Given the description of an element on the screen output the (x, y) to click on. 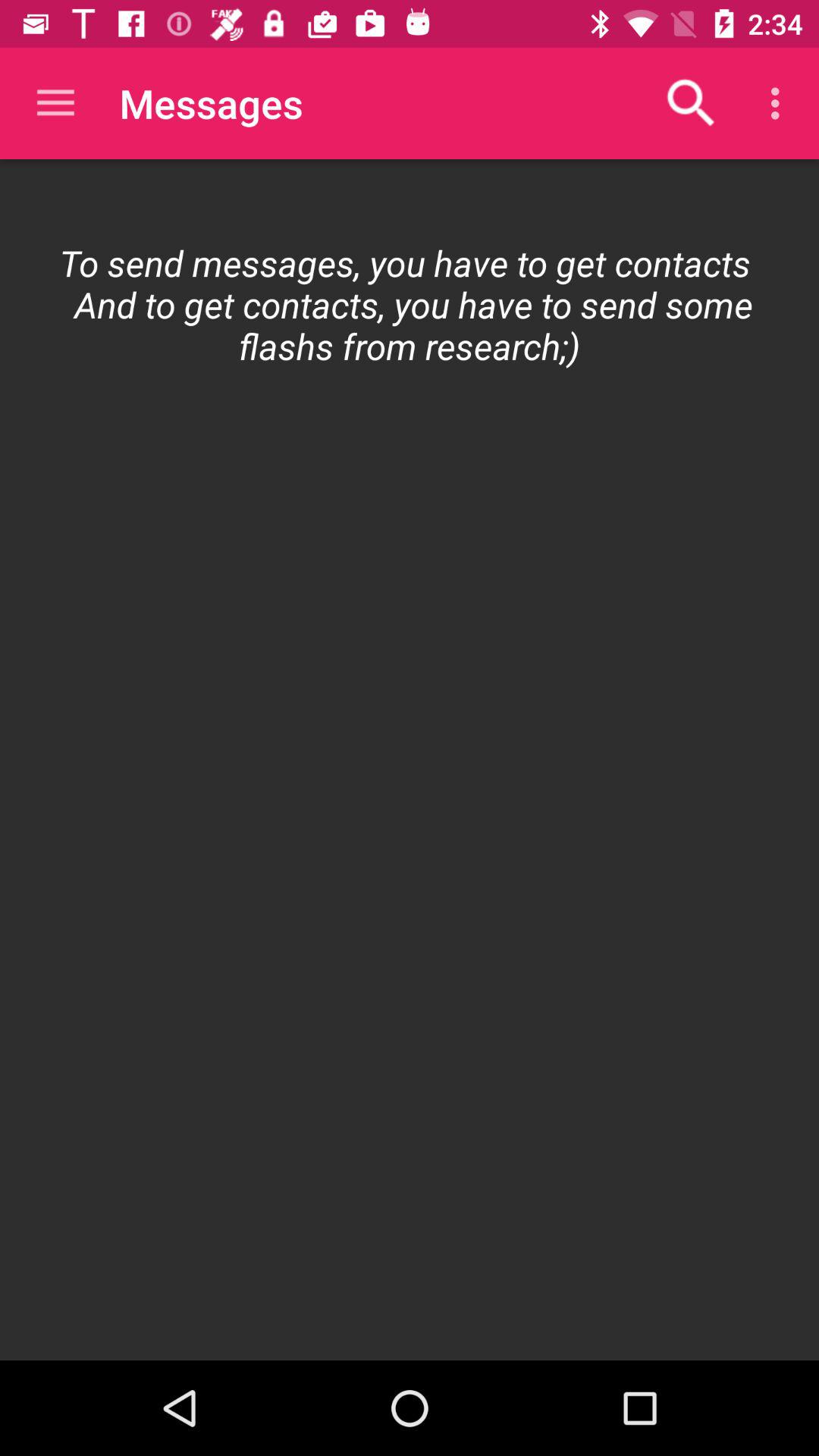
open the icon next to the messages icon (55, 103)
